Given the description of an element on the screen output the (x, y) to click on. 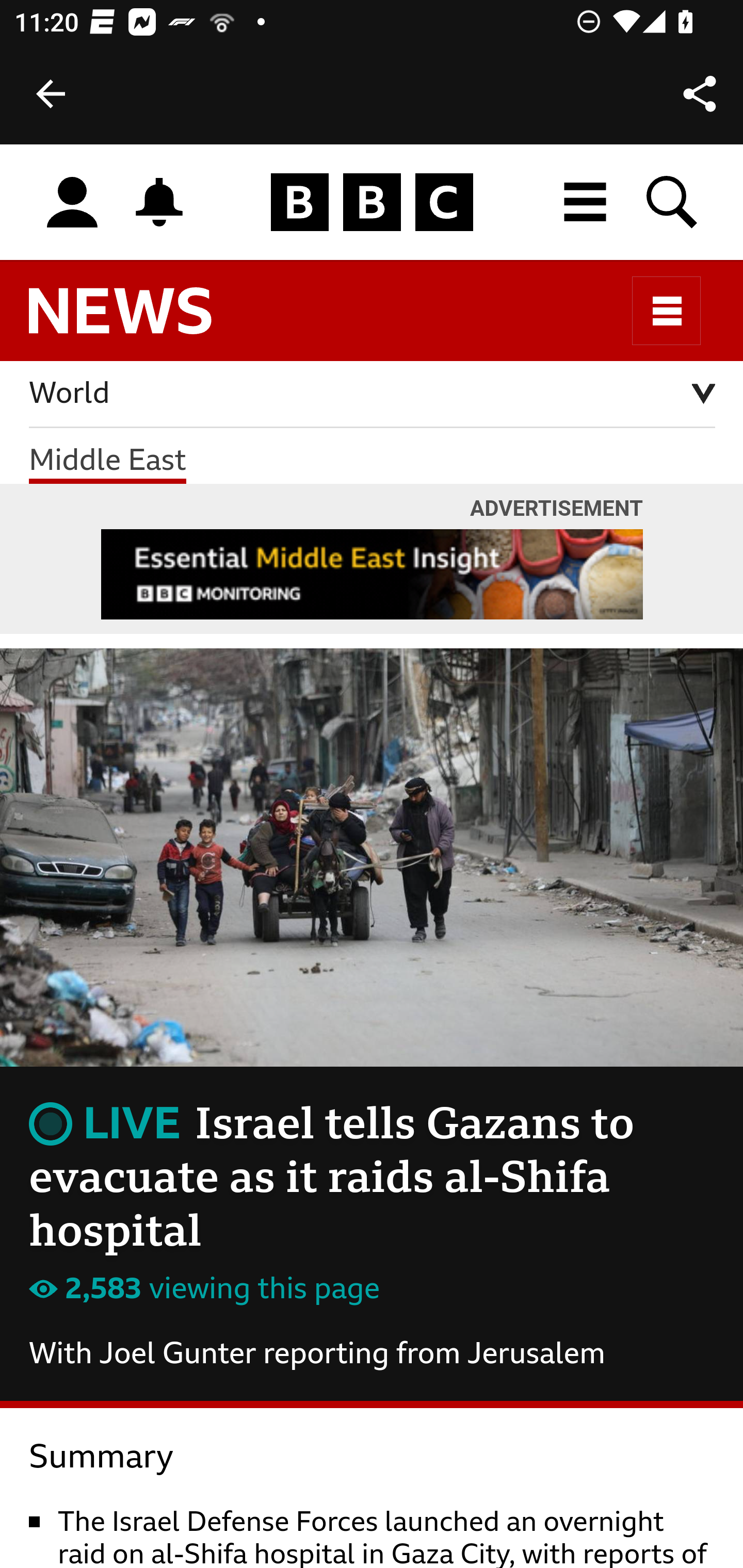
Back (50, 93)
Share (699, 93)
Notifications (159, 202)
All BBC destinations menu (585, 202)
Search BBC (672, 202)
Sign in (71, 203)
Homepage (371, 203)
Sections (667, 310)
BBC News (136, 319)
World (372, 394)
